Given the description of an element on the screen output the (x, y) to click on. 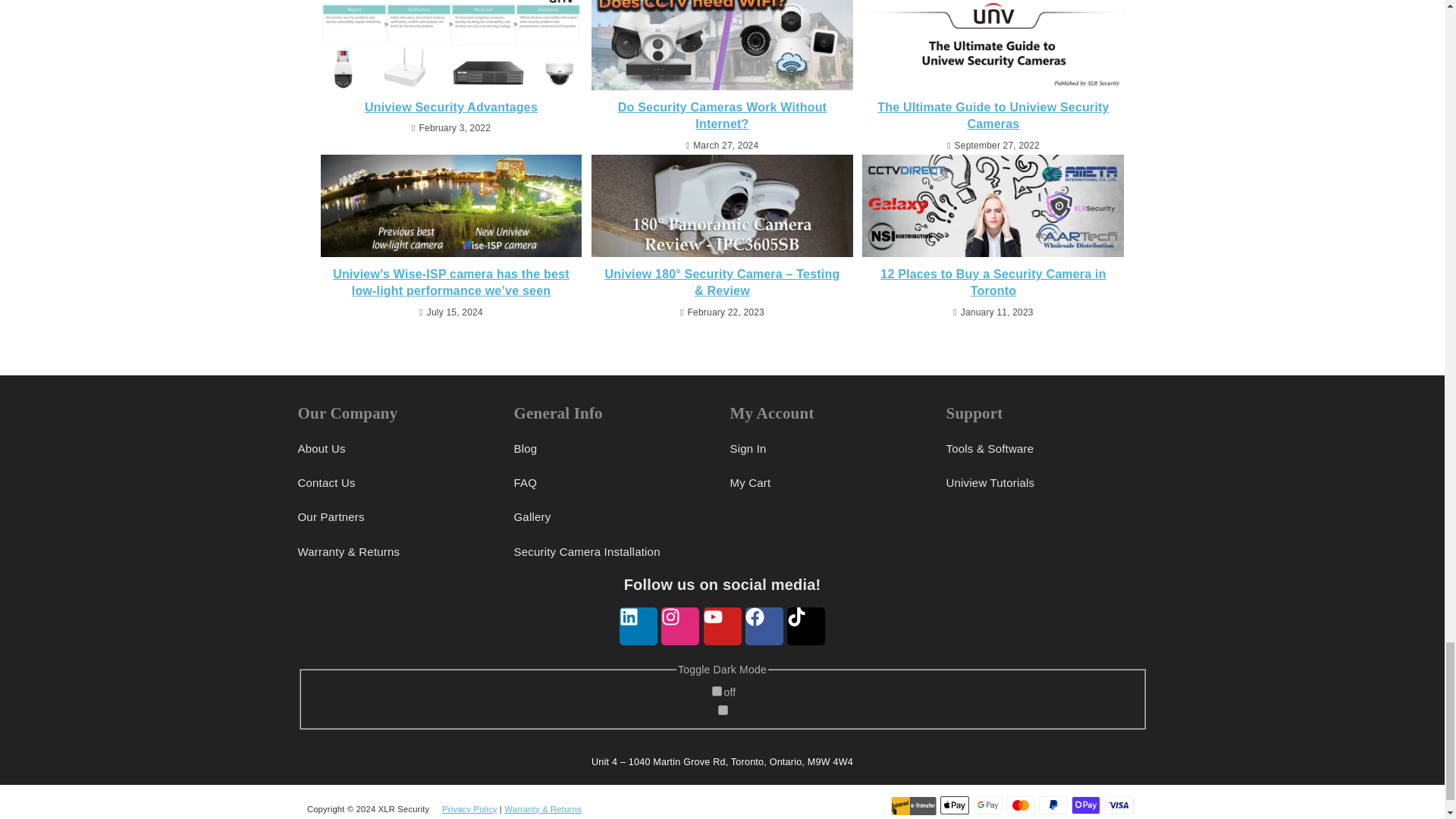
Google Pay (988, 805)
PayPal (1053, 805)
Apple Pay (954, 805)
Mastercard (1020, 805)
Shop Pay (1085, 805)
Visa (1117, 805)
